Given the description of an element on the screen output the (x, y) to click on. 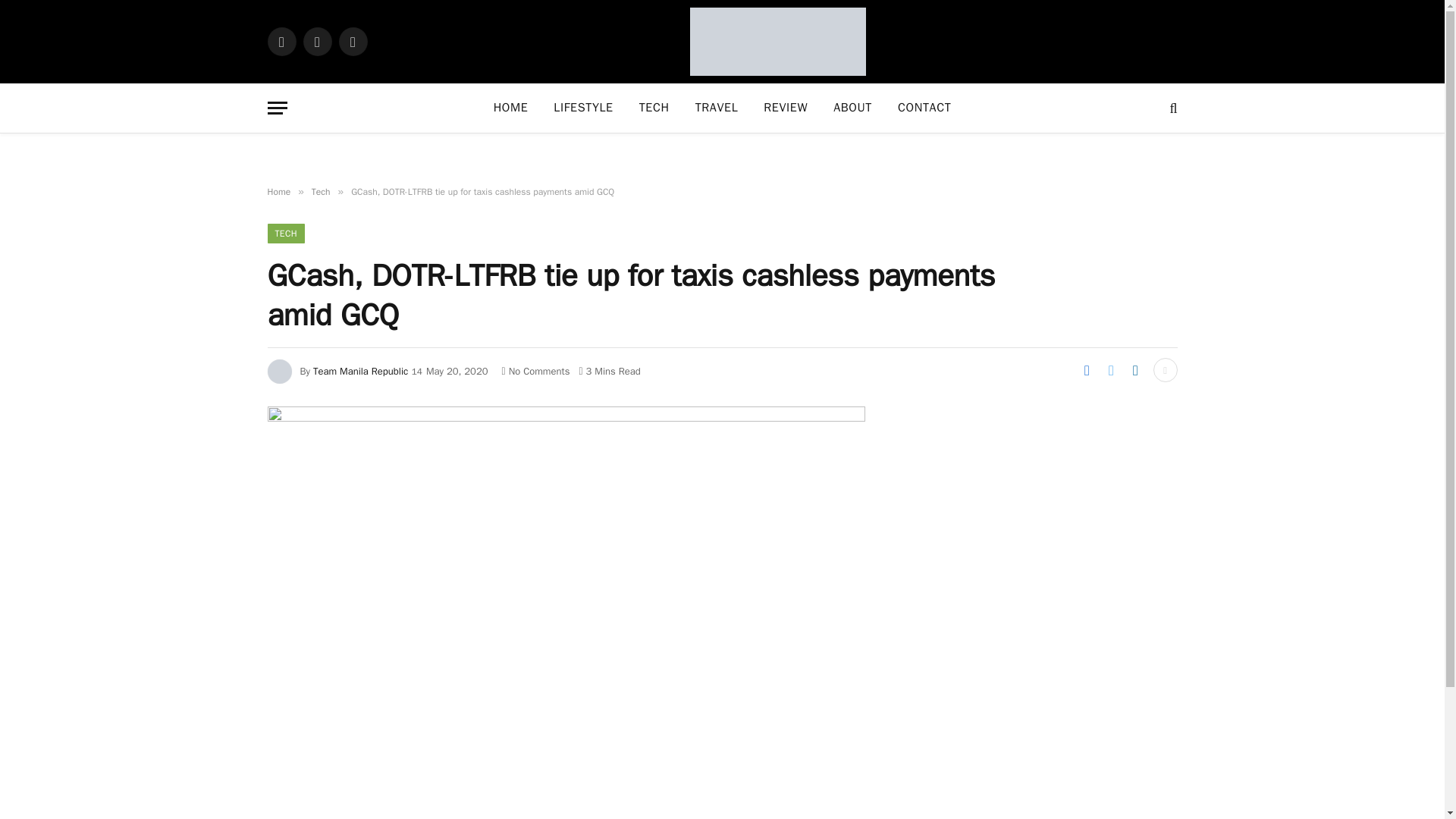
Instagram (351, 41)
Posts by Team Manila Republic (360, 370)
Home (277, 191)
TECH (285, 233)
CONTACT (924, 107)
ABOUT (853, 107)
Team Manila Republic (360, 370)
Facebook (280, 41)
Manila Republic (777, 41)
REVIEW (786, 107)
